Given the description of an element on the screen output the (x, y) to click on. 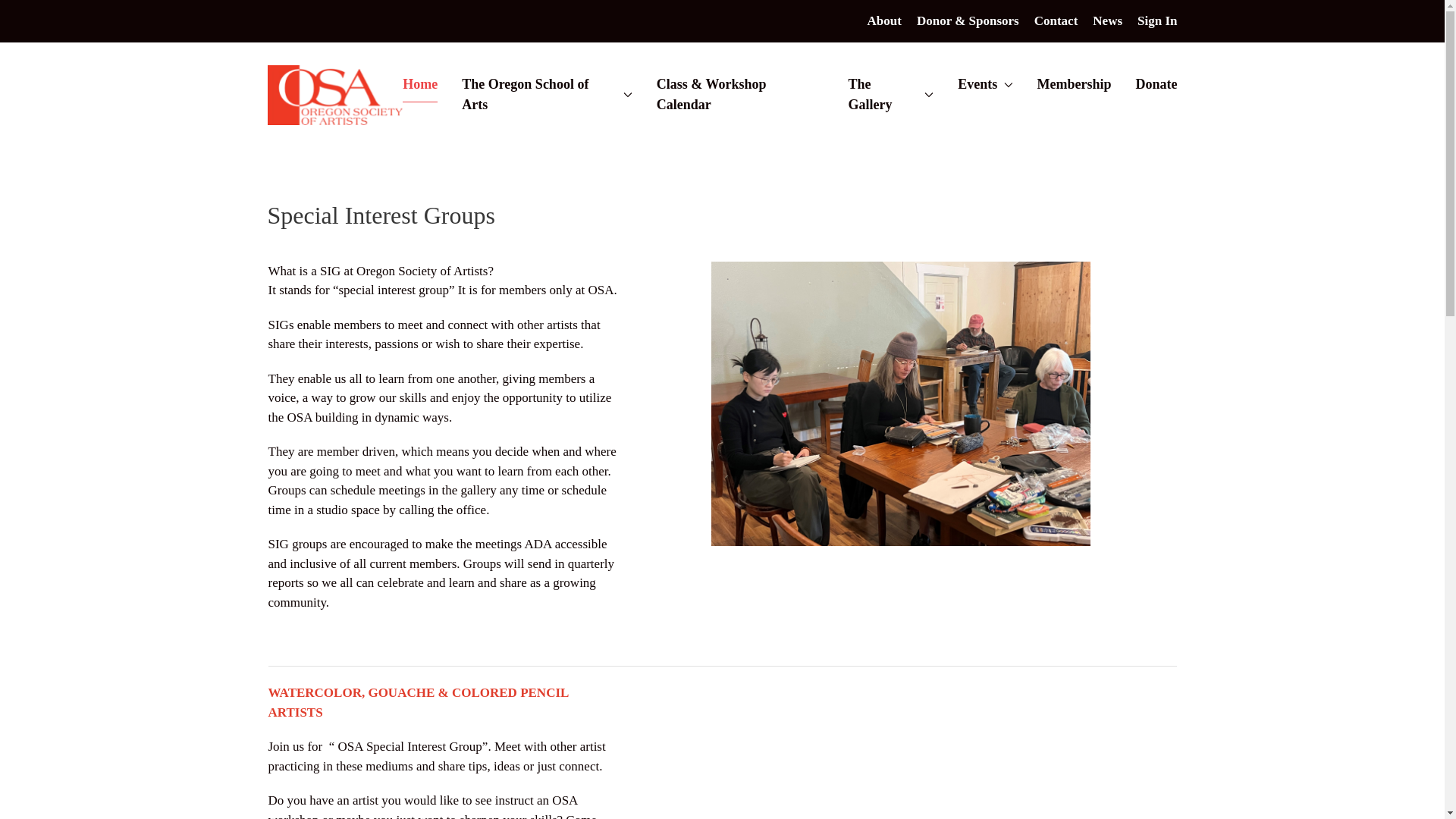
Events (984, 84)
Sign In (1156, 21)
The Oregon School of Arts (546, 94)
The Gallery (890, 94)
Donate (1156, 84)
About (884, 21)
Home (420, 84)
Membership (1074, 84)
News (1107, 21)
Contact (1055, 21)
